Given the description of an element on the screen output the (x, y) to click on. 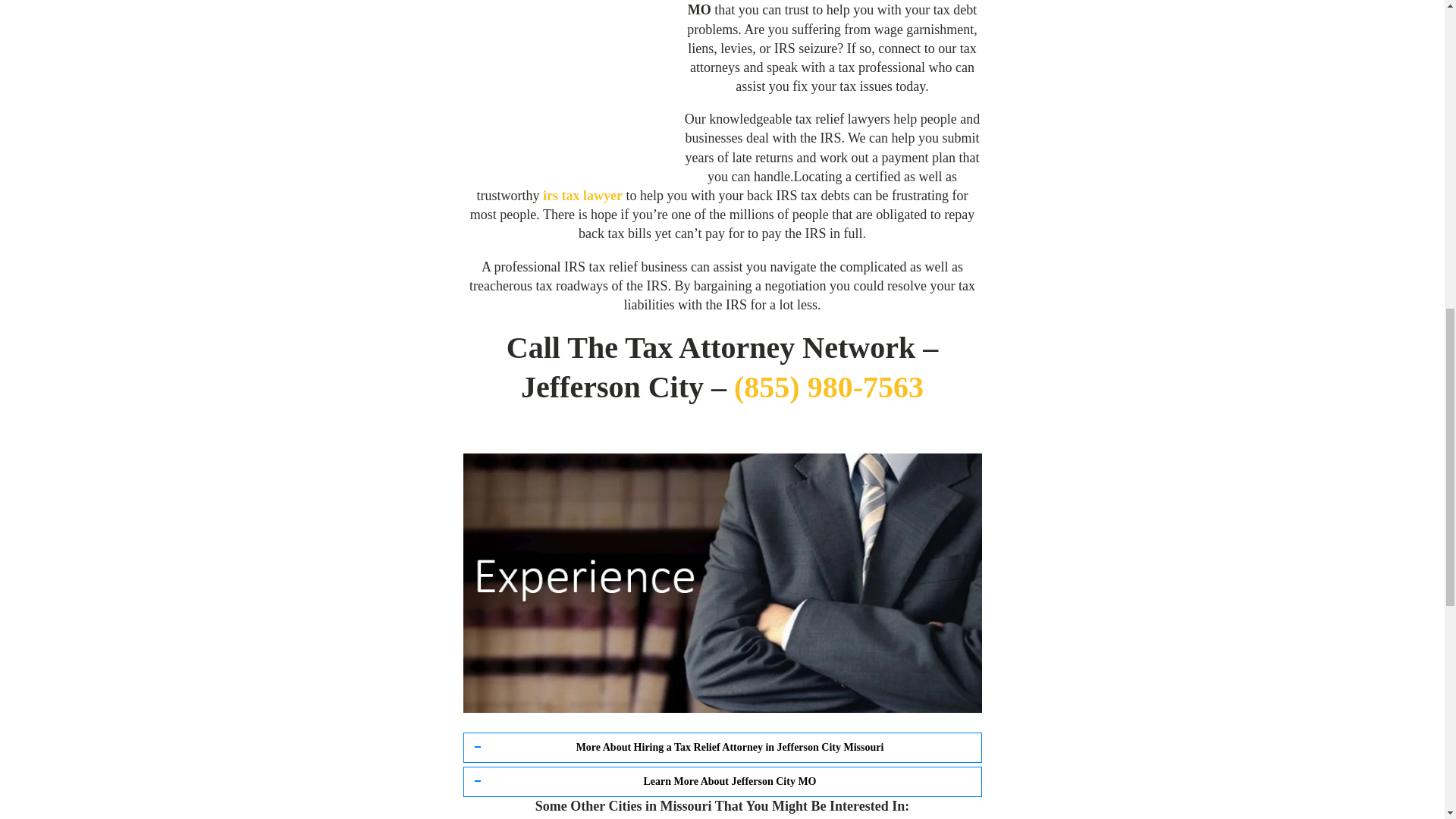
irs tax lawyer (583, 195)
